Given the description of an element on the screen output the (x, y) to click on. 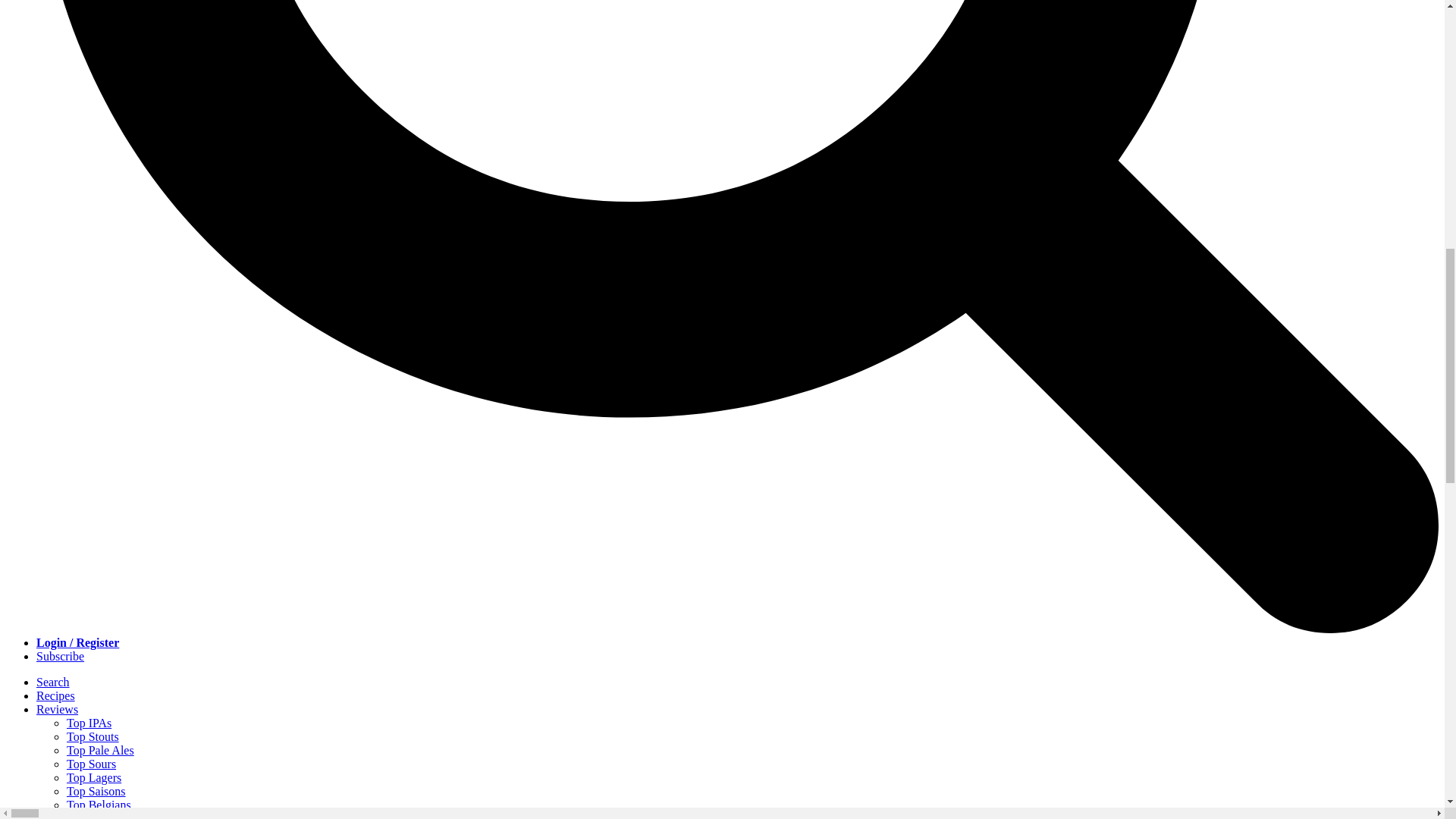
Top Belgians (98, 804)
Top Stouts (92, 736)
Reviews (57, 708)
Recipes (55, 695)
Top Saisons (95, 790)
Top Lagers (93, 777)
Top IPAs (89, 722)
Subscribe (60, 656)
Search All Reviews (113, 815)
Top Sours (91, 763)
